Given the description of an element on the screen output the (x, y) to click on. 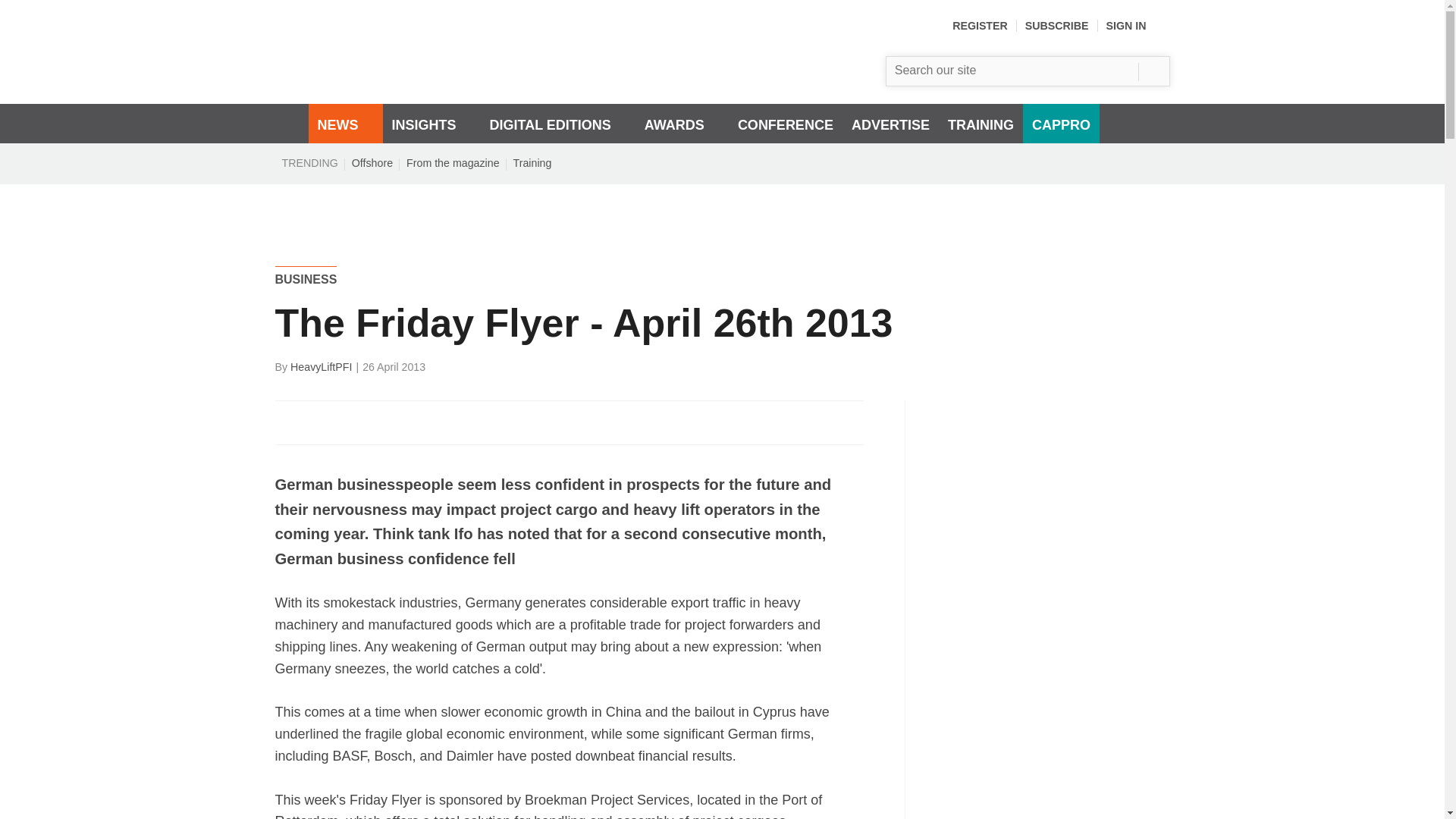
SEARCH (1153, 70)
From the magazine (452, 162)
Share this on Facebook (288, 421)
REGISTER (979, 25)
Share this on Twitter (320, 421)
SIGN IN (1138, 25)
Site name (457, 80)
Email this article (386, 421)
Training (532, 162)
Offshore (371, 162)
